Given the description of an element on the screen output the (x, y) to click on. 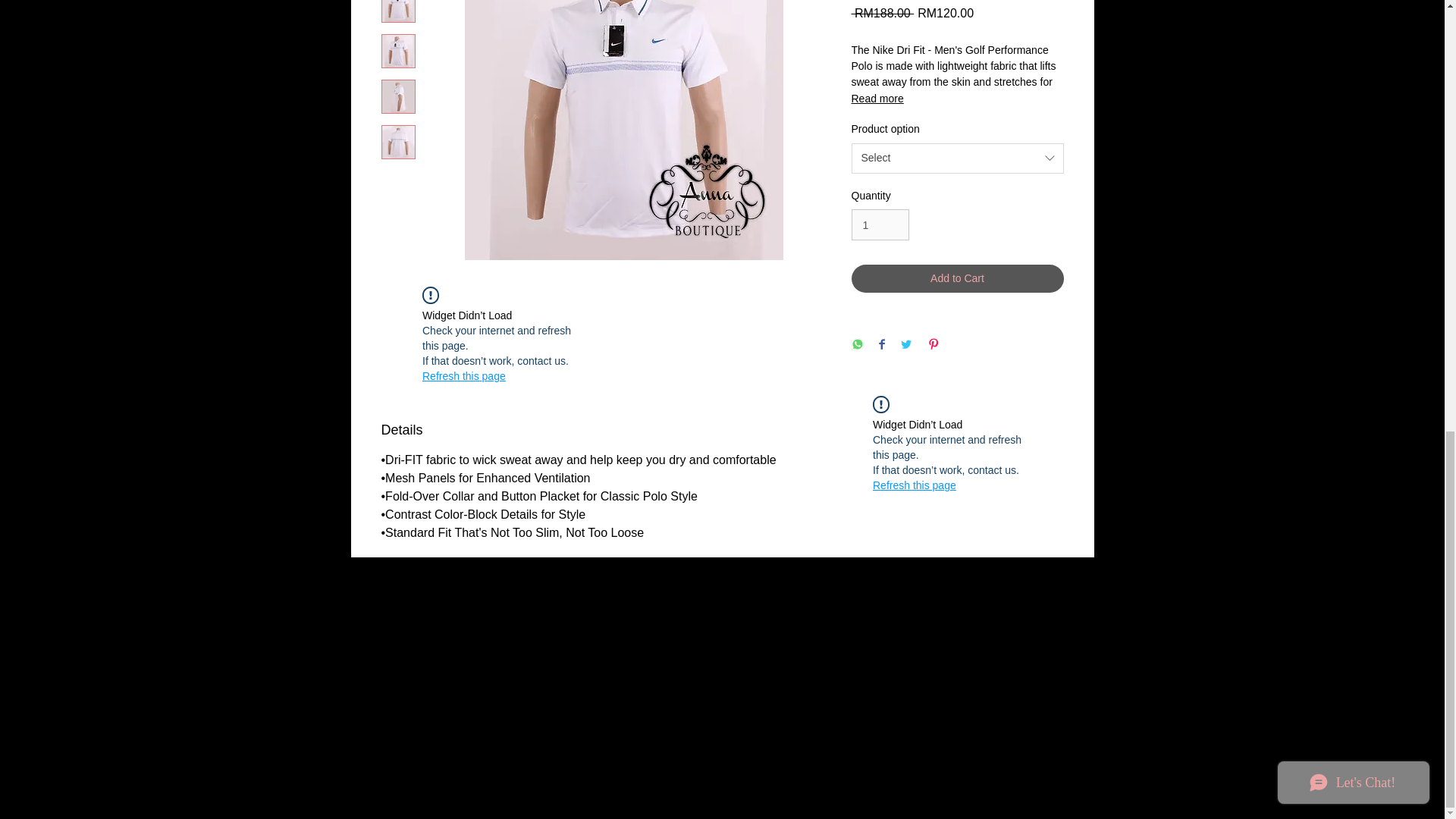
Refresh this page (914, 485)
Select (956, 158)
Add to Cart (956, 278)
Refresh this page (463, 376)
Read more (956, 98)
1 (879, 224)
